Given the description of an element on the screen output the (x, y) to click on. 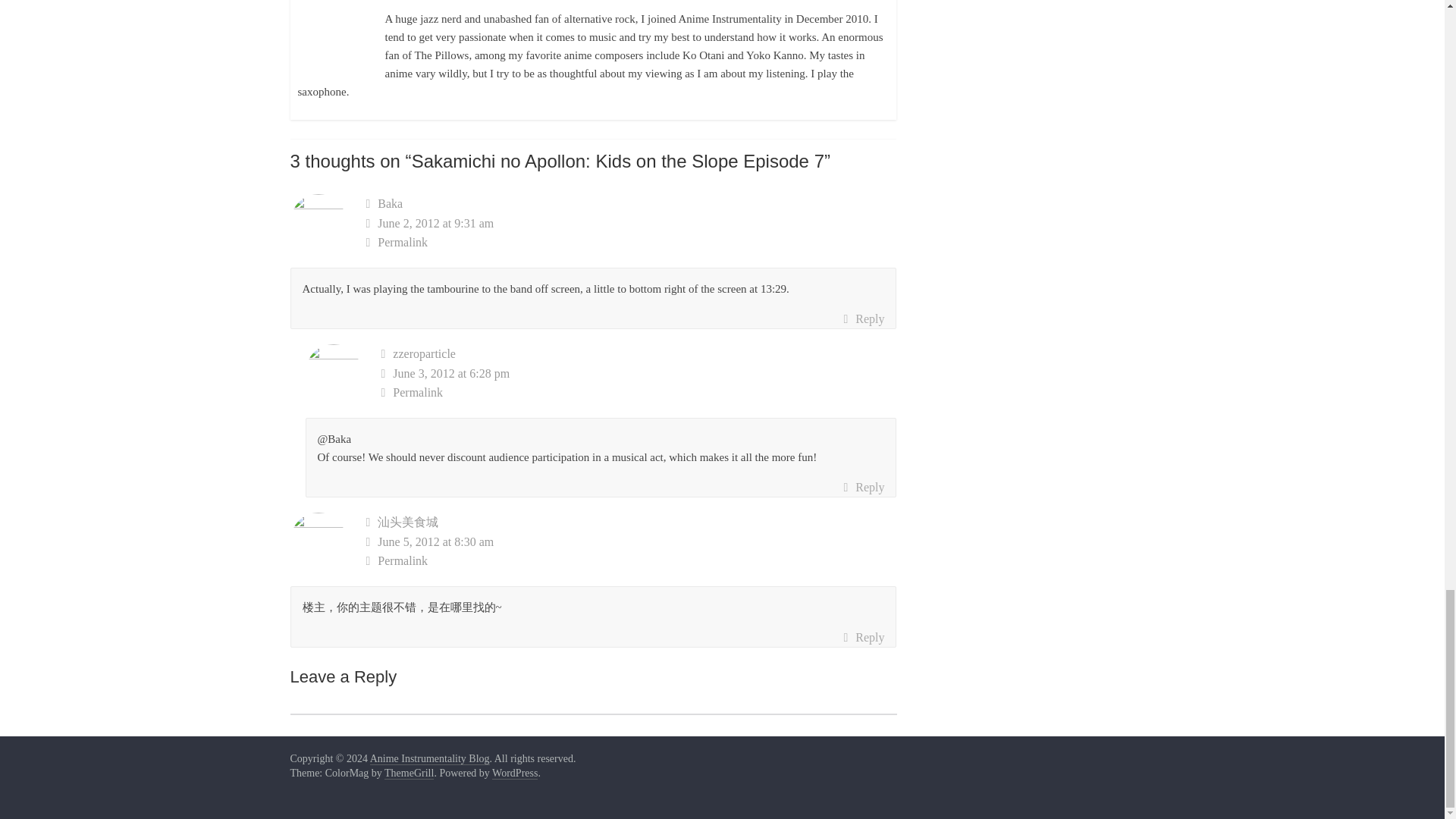
Permalink (638, 392)
zzeroparticle (424, 353)
Reply (863, 319)
Permalink (630, 242)
Reply (863, 487)
